Given the description of an element on the screen output the (x, y) to click on. 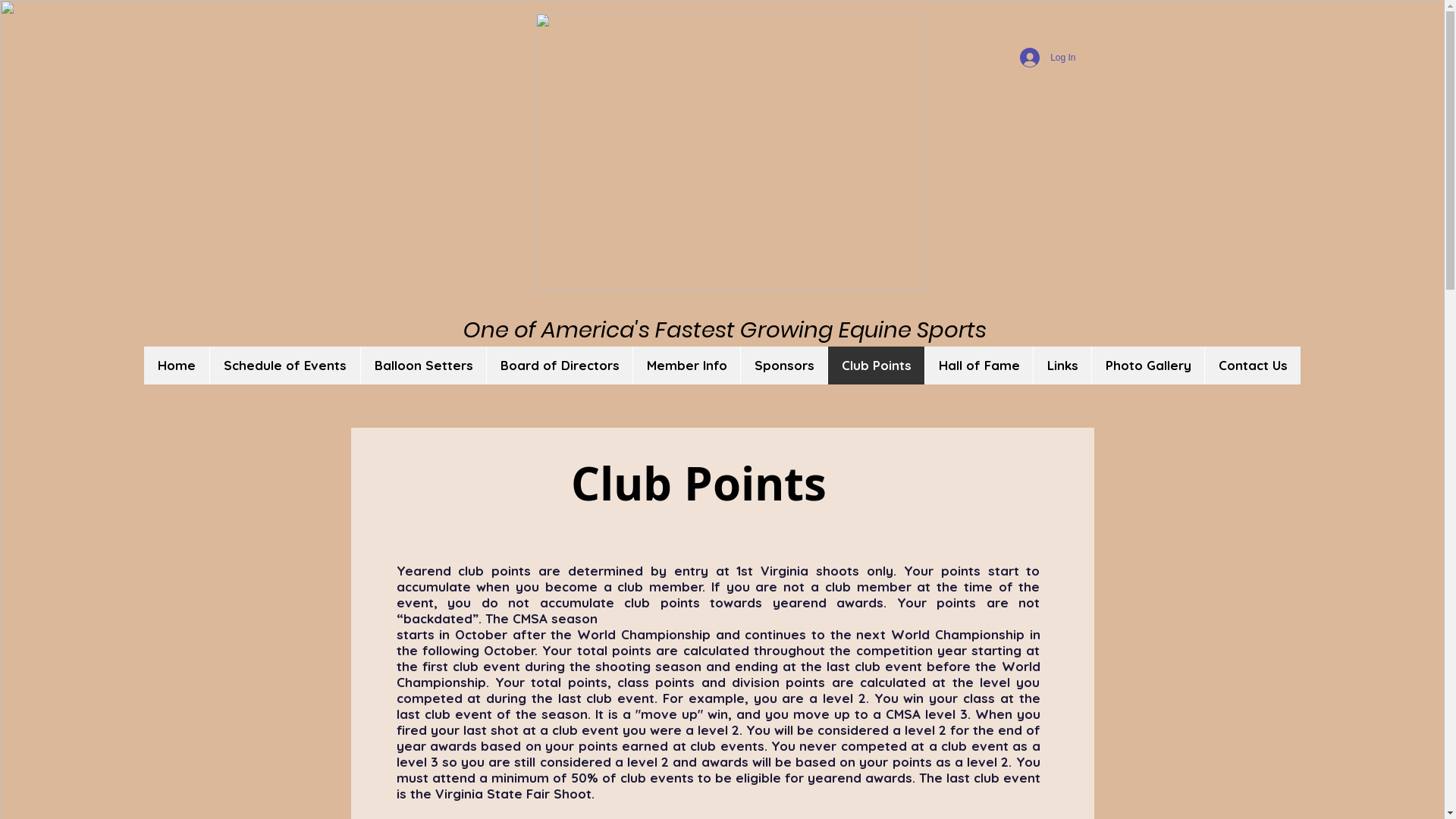
Sponsors Element type: text (783, 365)
Board of Directors Element type: text (559, 365)
Home Element type: text (176, 365)
Member Info Element type: text (686, 365)
Club Points Element type: text (875, 365)
Links Element type: text (1061, 365)
4 color.png Element type: hover (729, 151)
Balloon Setters Element type: text (423, 365)
Contact Us Element type: text (1252, 365)
Hall of Fame Element type: text (978, 365)
Log In Element type: text (1047, 57)
Photo Gallery Element type: text (1147, 365)
Schedule of Events Element type: text (284, 365)
